Given the description of an element on the screen output the (x, y) to click on. 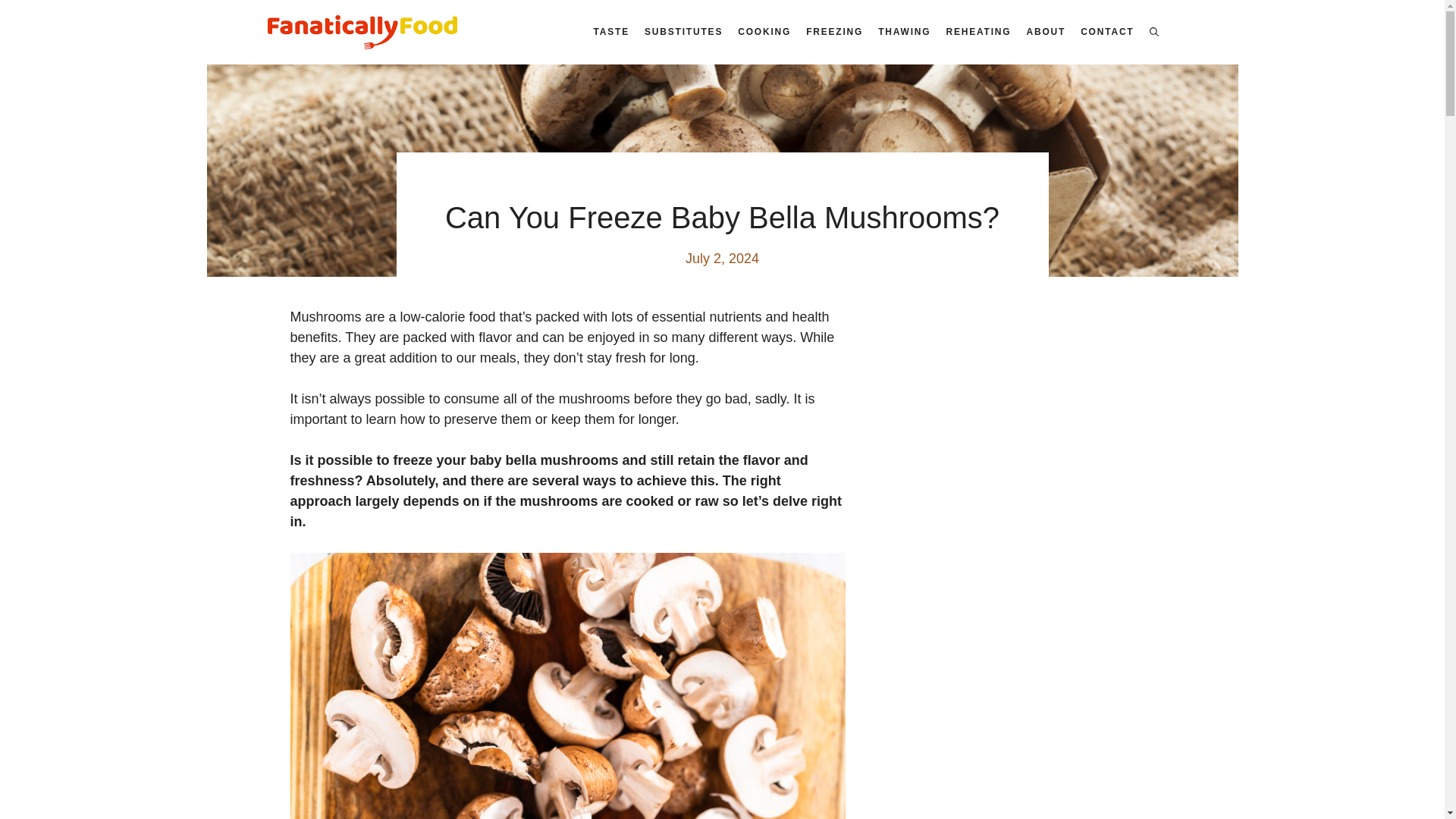
FREEZING (833, 32)
ABOUT (1045, 32)
REHEATING (977, 32)
SUBSTITUTES (683, 32)
THAWING (903, 32)
CONTACT (1107, 32)
COOKING (763, 32)
TASTE (611, 32)
